Given the description of an element on the screen output the (x, y) to click on. 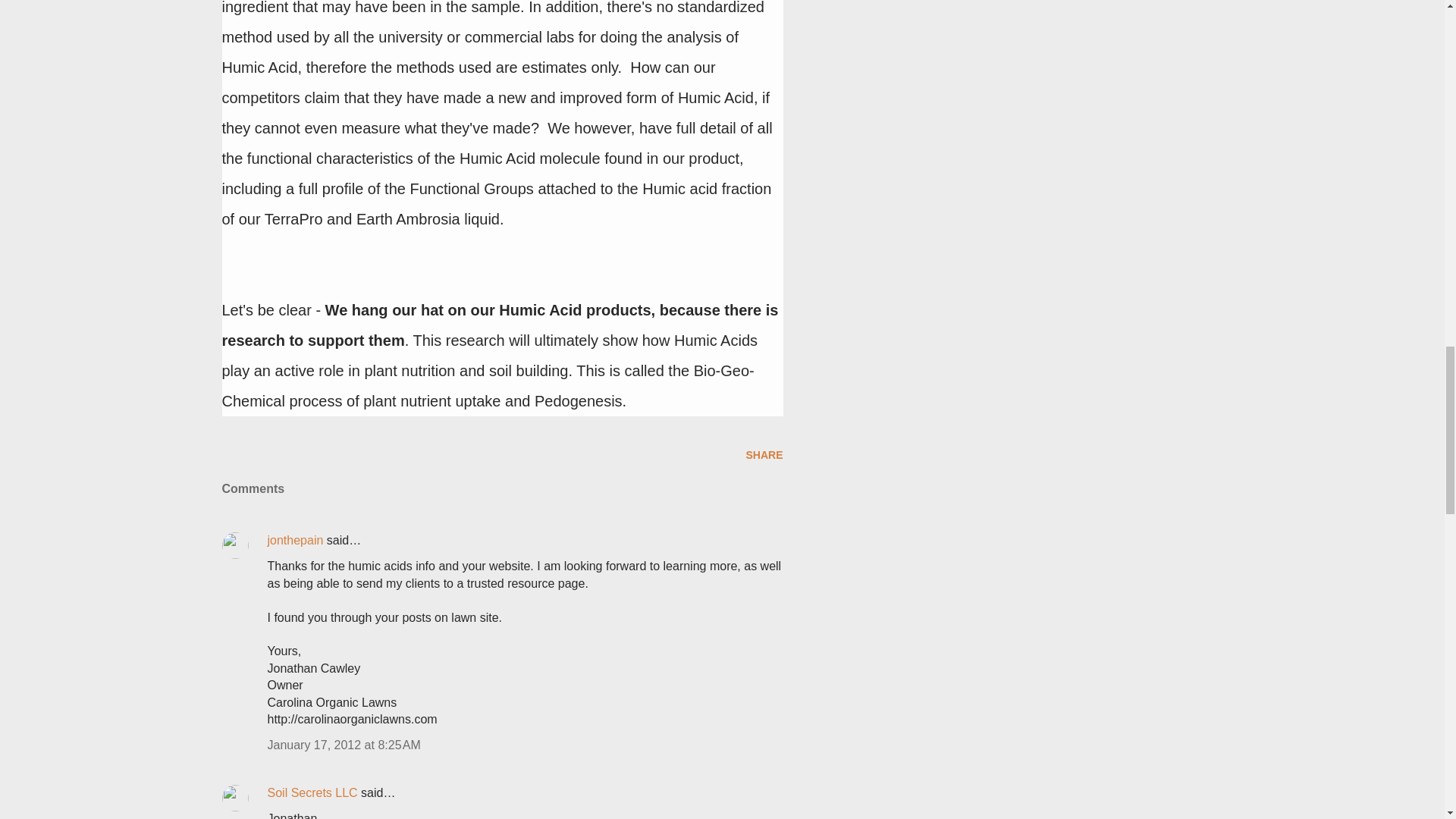
Email Post (230, 454)
SHARE (764, 454)
comment permalink (343, 744)
Soil Secrets LLC (311, 792)
jonthepain (294, 540)
